Given the description of an element on the screen output the (x, y) to click on. 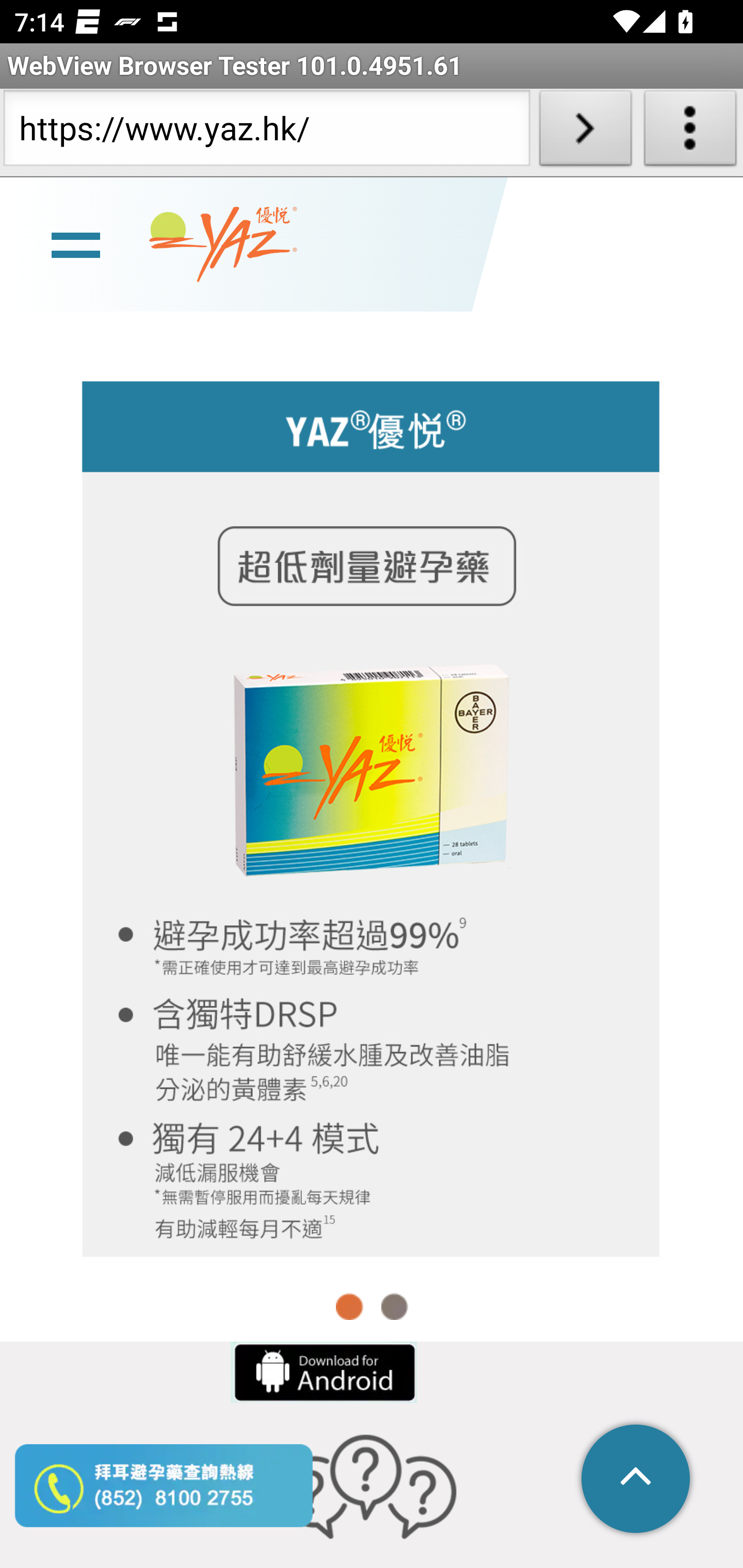
https://www.yaz.hk/ (266, 132)
Load URL (585, 132)
About WebView (690, 132)
www.yaz (222, 244)
line Toggle burger menu (75, 245)
slide 1 (371, 817)
1 of 2 (349, 1306)
2 of 2 (393, 1306)
details?id=com.bayer.ph (322, 1373)
 (636, 1480)
